Given the description of an element on the screen output the (x, y) to click on. 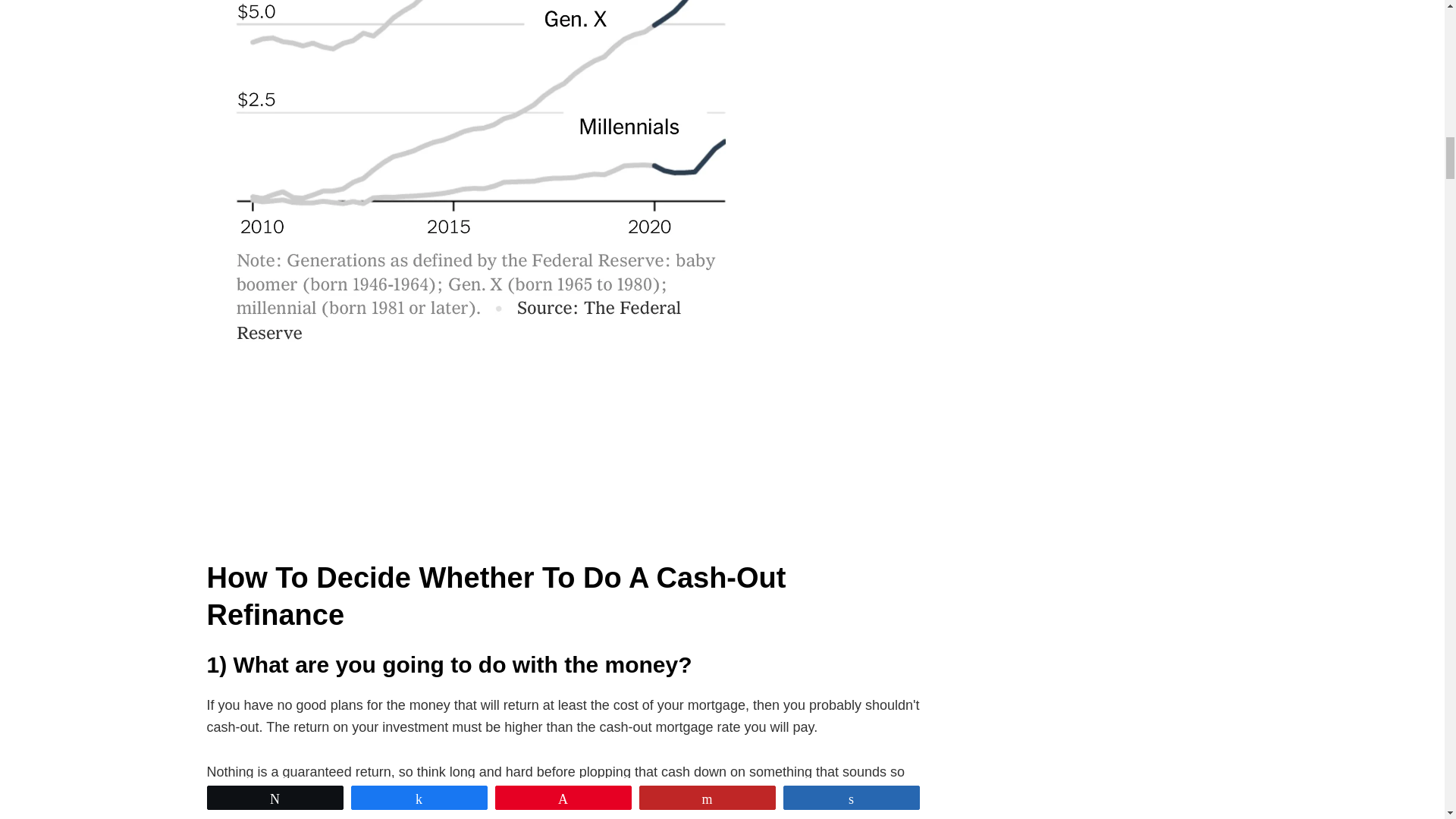
Treasury bonds (356, 794)
